Given the description of an element on the screen output the (x, y) to click on. 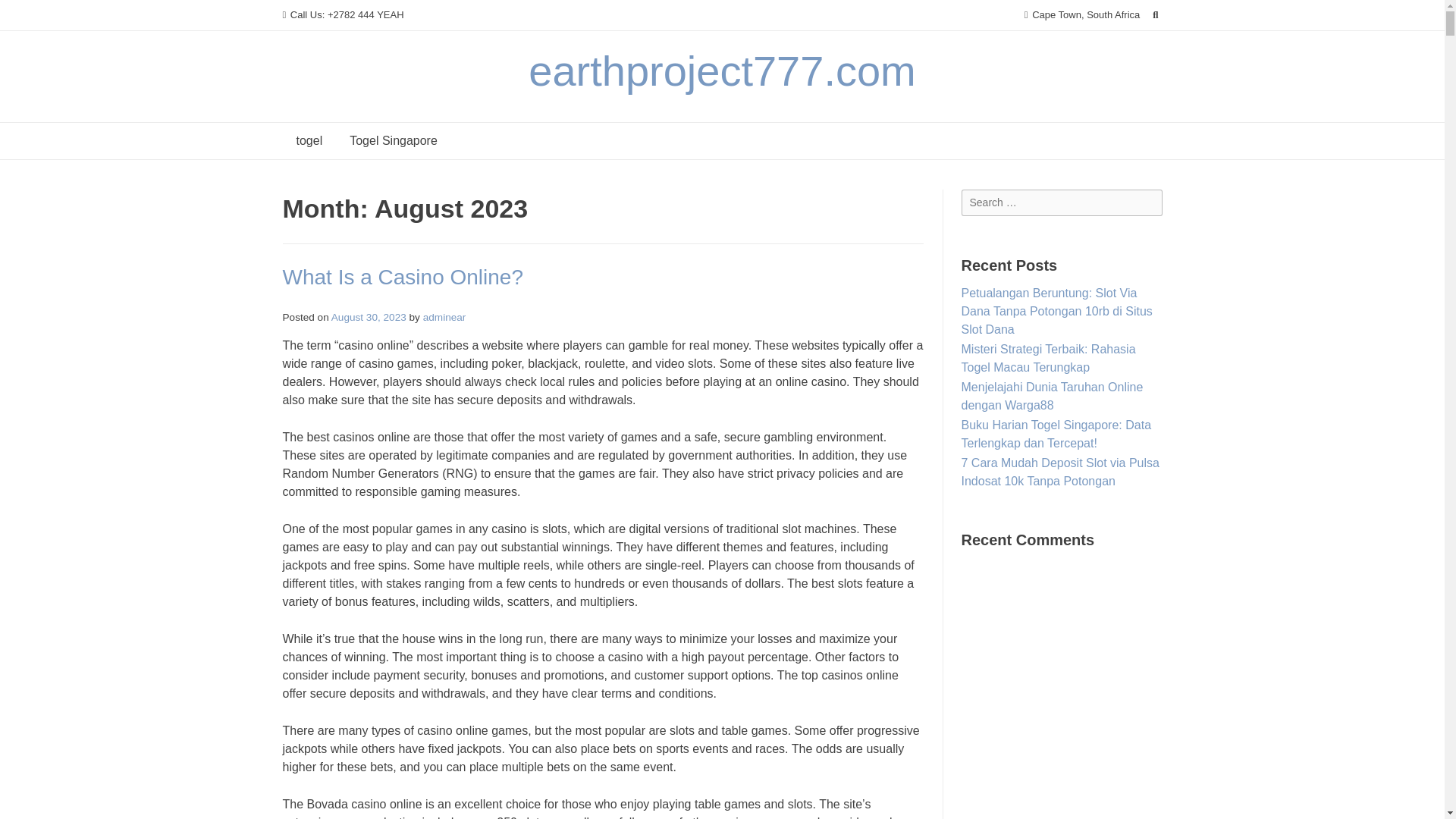
August 30, 2023 (368, 317)
Togel Singapore (393, 140)
Search (27, 13)
adminear (444, 317)
togel (309, 140)
earthproject777.com (721, 70)
What Is a Casino Online? (402, 277)
